Given the description of an element on the screen output the (x, y) to click on. 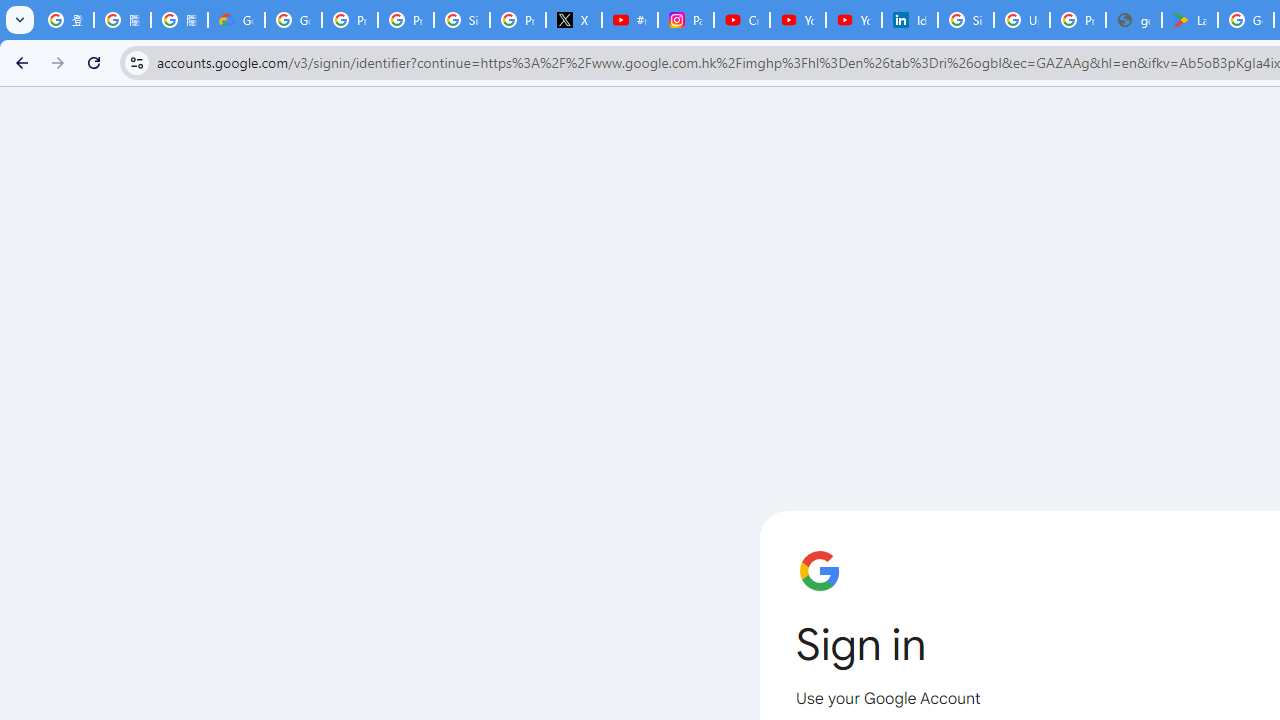
Privacy Help Center - Policies Help (405, 20)
Google Cloud Privacy Notice (235, 20)
Identity verification via Persona | LinkedIn Help (909, 20)
Sign in - Google Accounts (966, 20)
#nbabasketballhighlights - YouTube (629, 20)
